Given the description of an element on the screen output the (x, y) to click on. 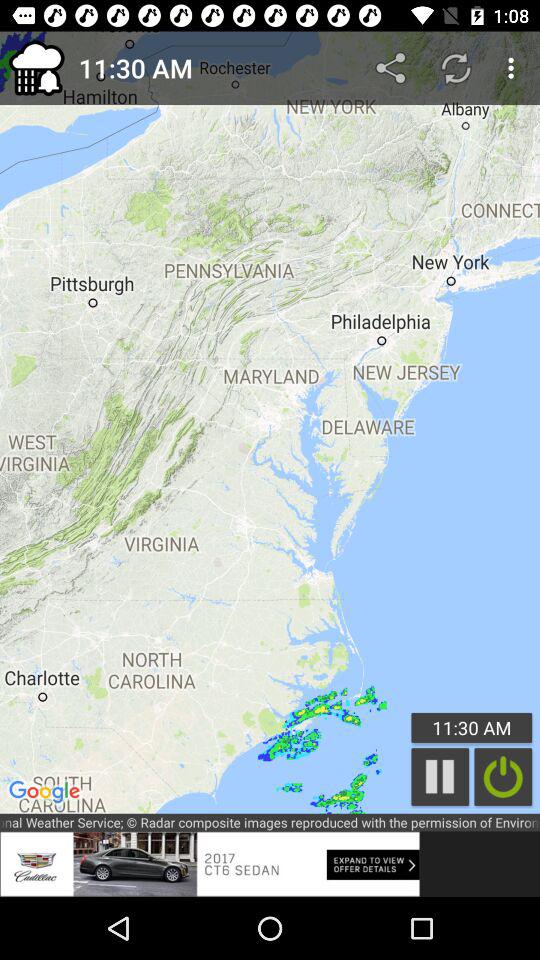
on button (503, 776)
